Given the description of an element on the screen output the (x, y) to click on. 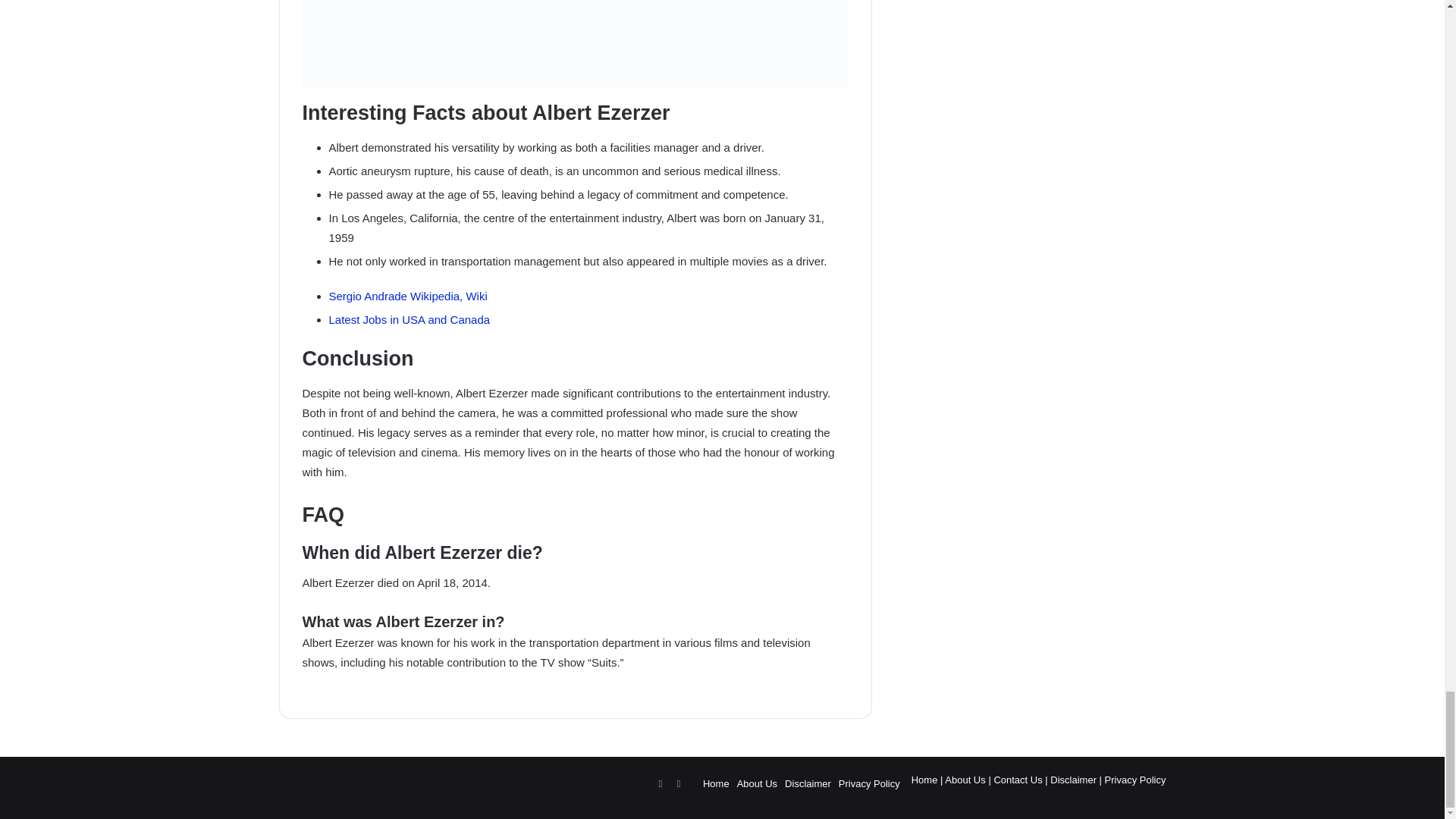
Latest Jobs in USA and Canada (409, 318)
Sergio Andrade Wikipedia, Wiki (408, 295)
